Given the description of an element on the screen output the (x, y) to click on. 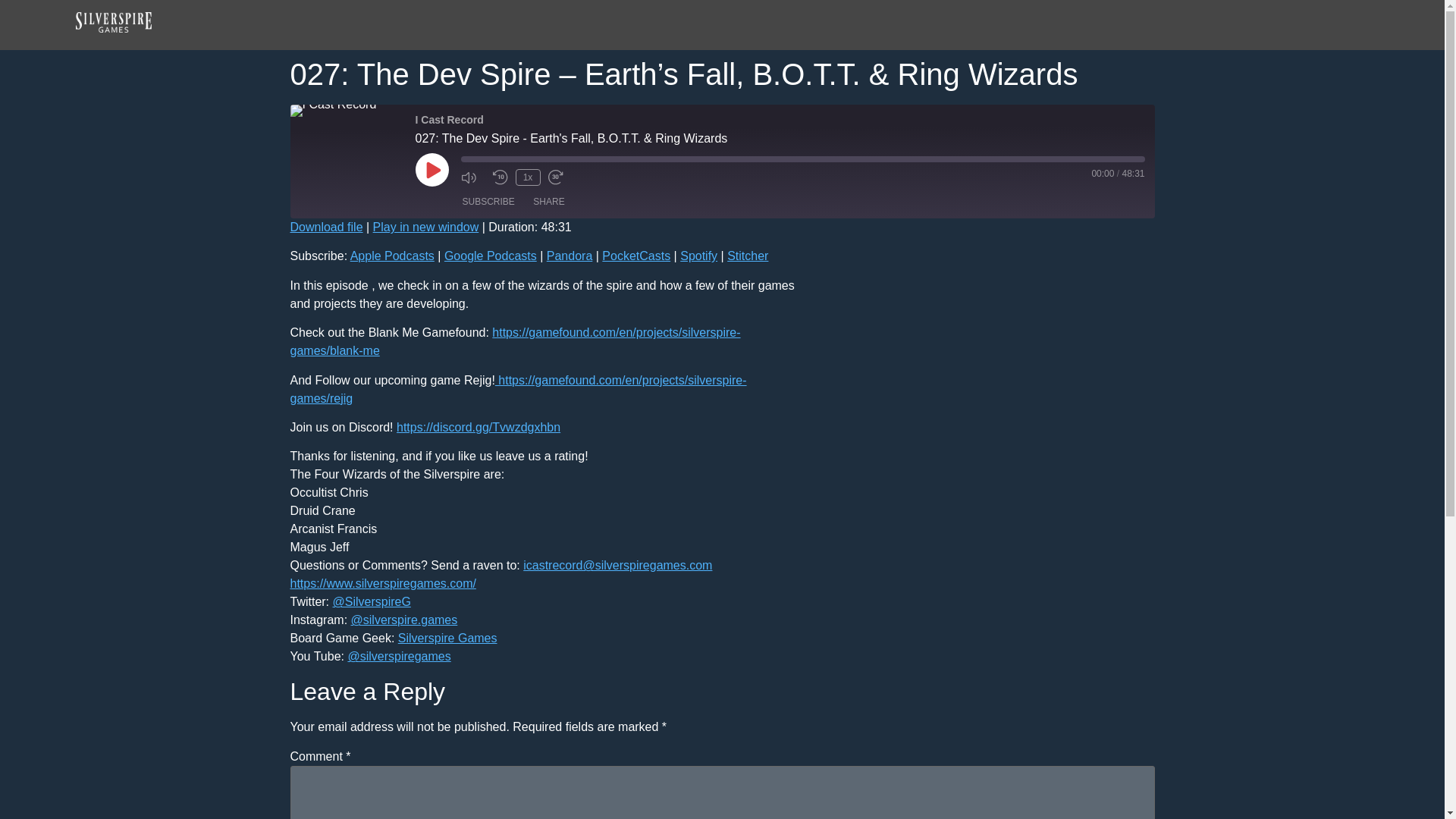
Fast Forward 30 seconds (559, 177)
Spotify (698, 255)
Pandora (569, 255)
1x (527, 176)
Share (548, 201)
Stitcher (747, 255)
Play (431, 169)
SHARE (548, 201)
Playback Speed (527, 176)
Download file (325, 226)
I Cast Record (332, 110)
Rewind 10 seconds (500, 177)
Google Podcasts (490, 255)
Play in new window (425, 226)
